Given the description of an element on the screen output the (x, y) to click on. 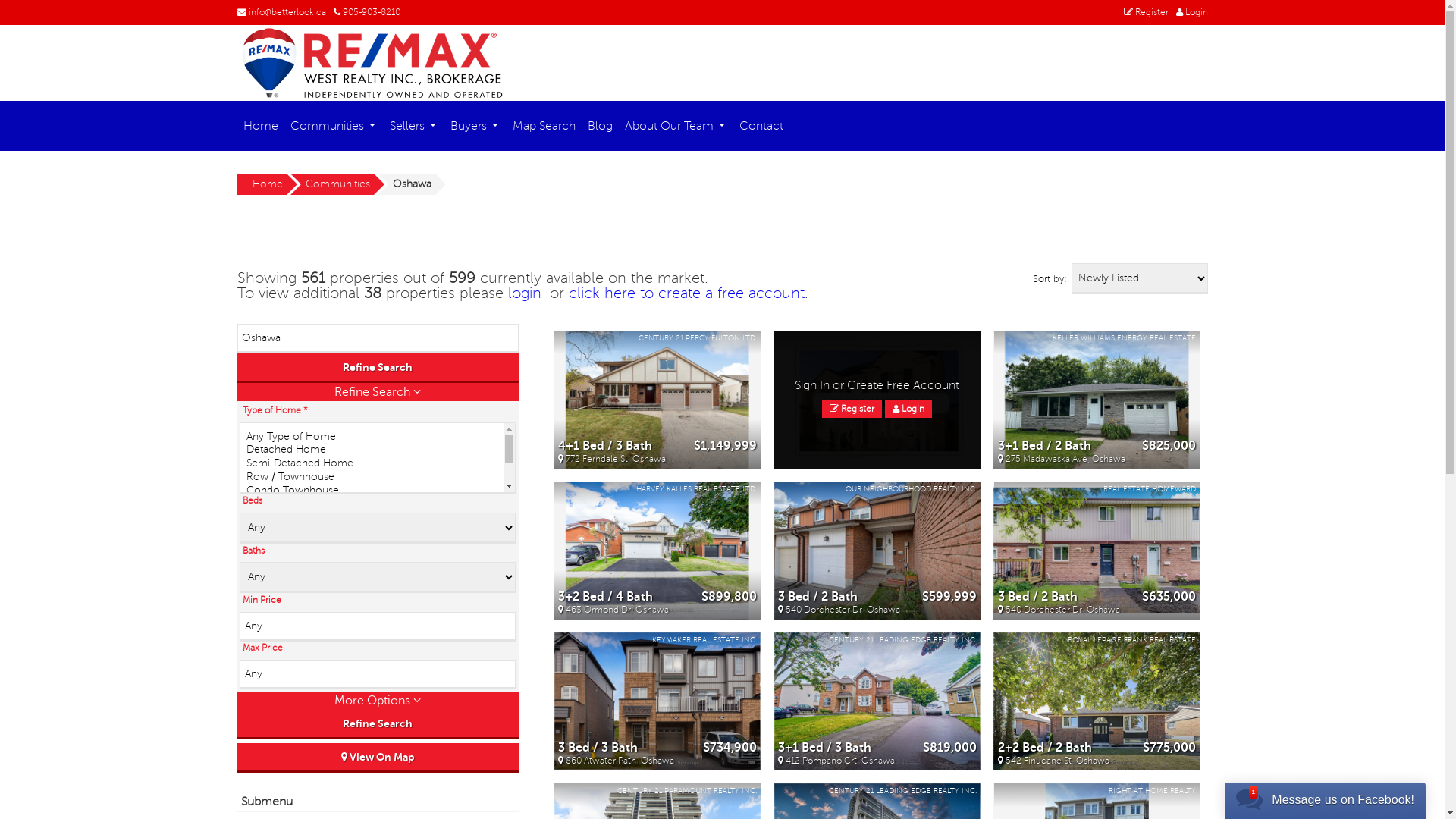
 Login Element type: text (907, 408)
Sellers Element type: text (413, 125)
 Register Element type: text (1145, 12)
 info@betterlook.ca Element type: text (280, 12)
 Register Element type: text (851, 408)
Buyers Element type: text (475, 125)
Communities Element type: text (332, 125)
Contact Element type: text (760, 125)
Refine Search Element type: text (376, 367)
View On Map Element type: text (376, 757)
Home Element type: text (259, 125)
Refine Search Element type: text (376, 391)
Map Search Element type: text (543, 125)
Communities Element type: text (331, 183)
Blog Element type: text (599, 125)
click here to create a free account Element type: text (686, 293)
About Our Team Element type: text (675, 125)
More Options Element type: text (376, 700)
 905-903-8210 Element type: text (366, 12)
login Element type: text (524, 293)
 Login Element type: text (1191, 12)
Refine Search Element type: text (376, 724)
Home Element type: text (260, 183)
